Given the description of an element on the screen output the (x, y) to click on. 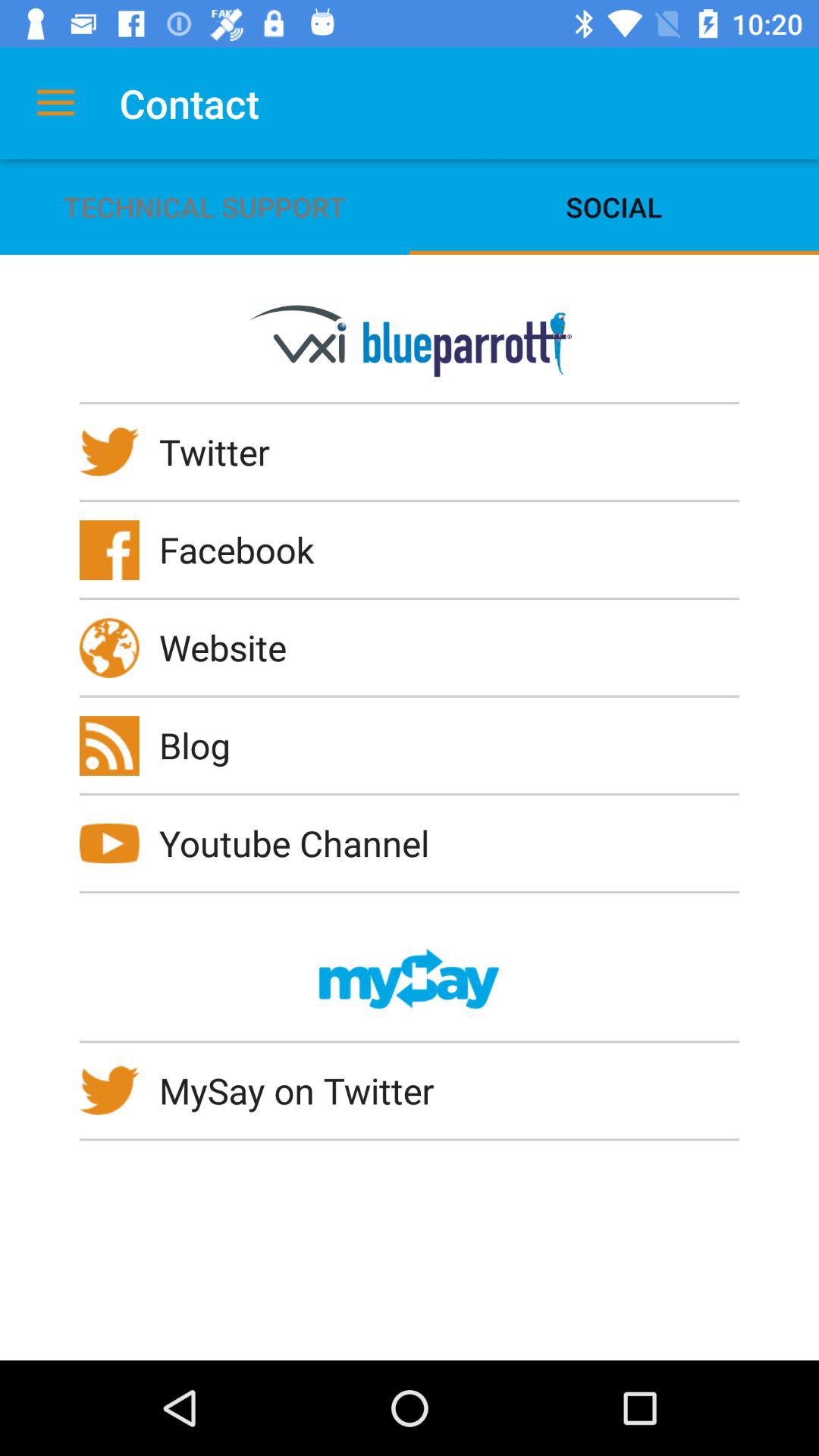
launch the mysay on twitter icon (306, 1090)
